Given the description of an element on the screen output the (x, y) to click on. 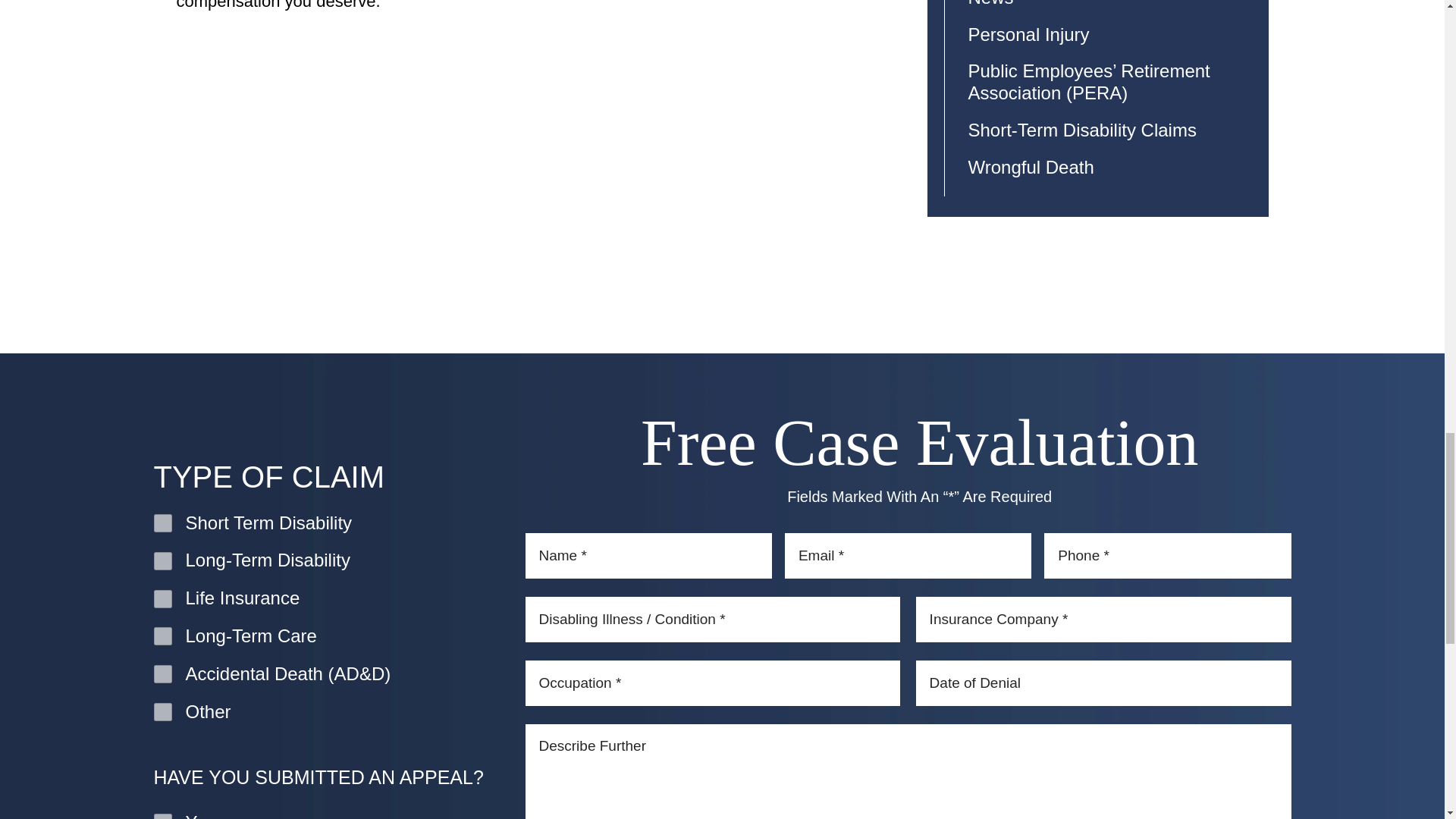
Other (161, 711)
Short Term Disability (161, 523)
Yes (161, 816)
Long-Term Care (161, 636)
Long-Term Disability (161, 561)
Life Insurance (161, 598)
